Given the description of an element on the screen output the (x, y) to click on. 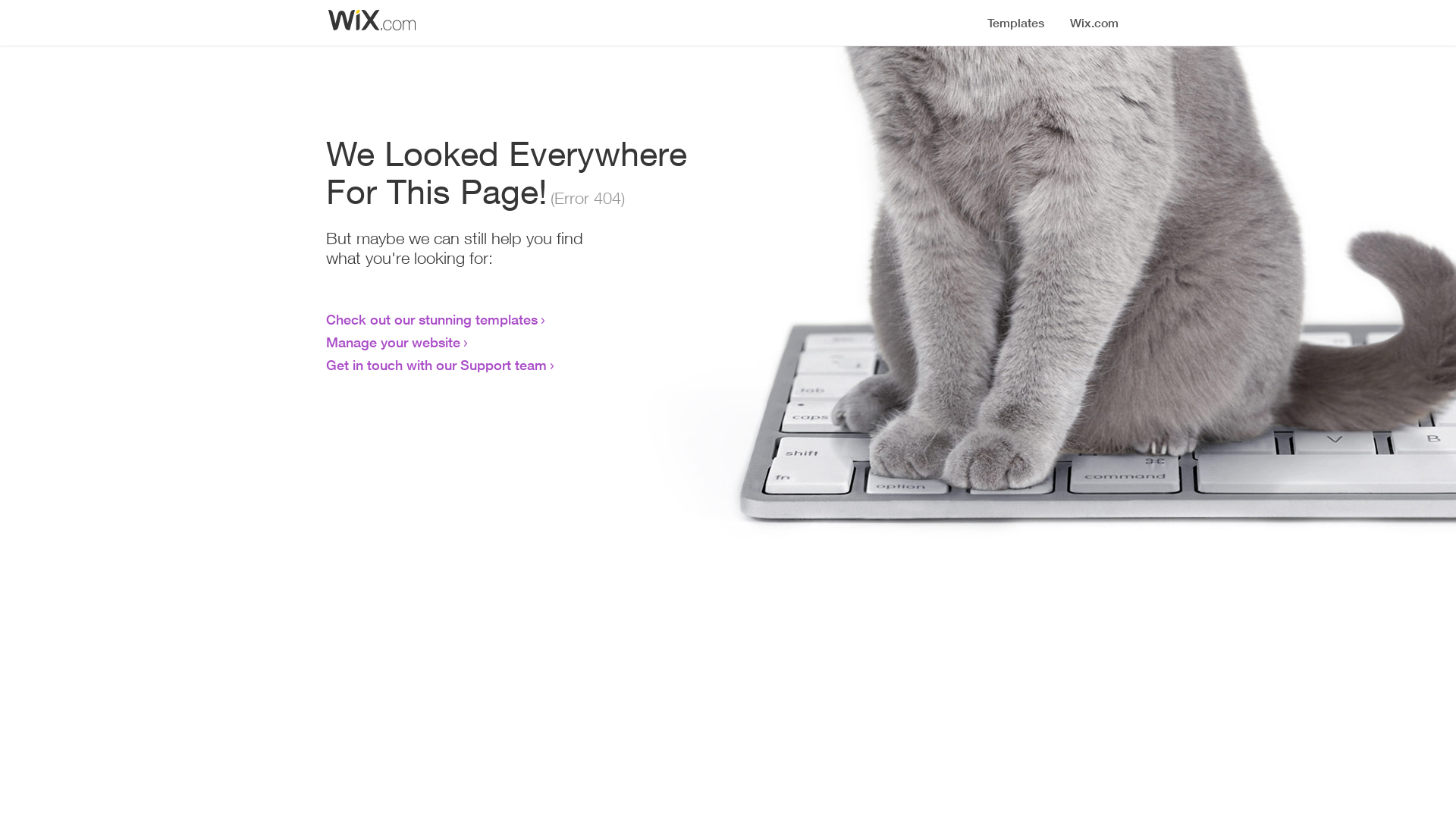
Get in touch with our Support team Element type: text (436, 364)
Manage your website Element type: text (393, 341)
Check out our stunning templates Element type: text (431, 318)
